Given the description of an element on the screen output the (x, y) to click on. 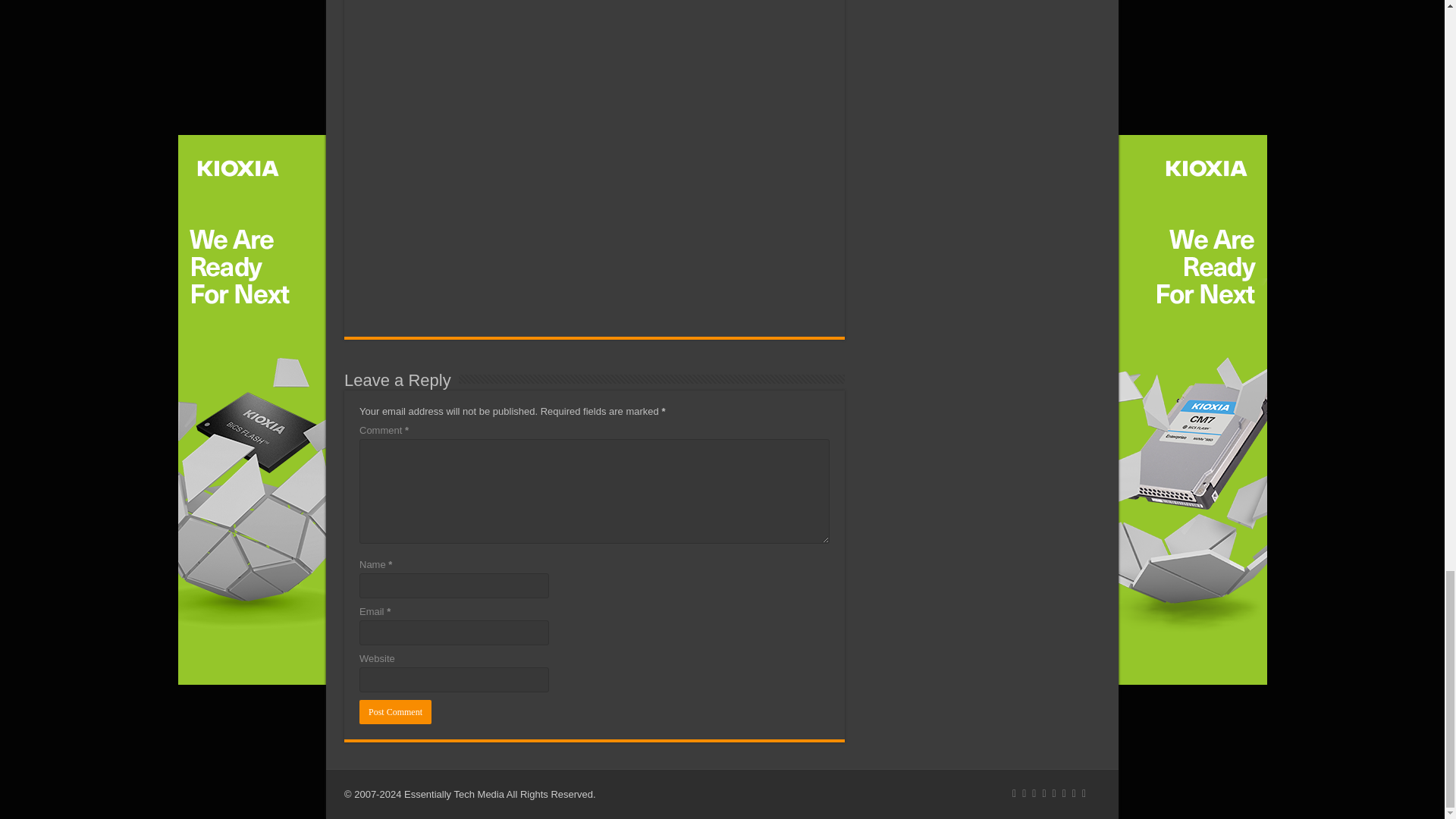
Post Comment (394, 711)
